Given the description of an element on the screen output the (x, y) to click on. 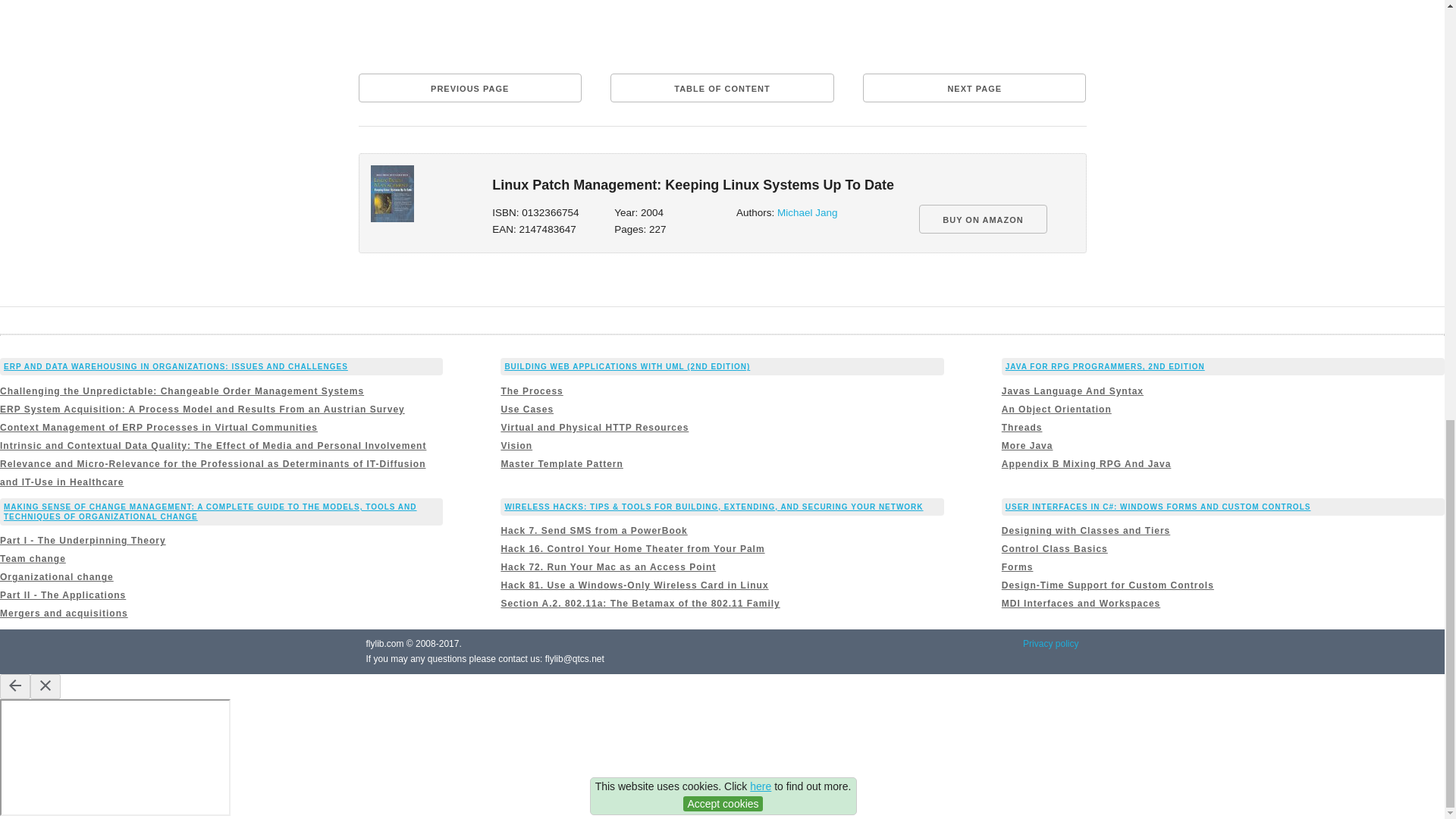
Advertisement (722, 31)
Organizational change (56, 576)
Threads (1021, 427)
Michael Jang (807, 212)
Part II - The Applications (62, 594)
Hack 7. Send SMS from a PowerBook (593, 530)
Section A.2. 802.11a: The Betamax of the 802.11 Family (639, 603)
Vision (516, 445)
Context Management of ERP Processes in Virtual Communities (158, 427)
Master Template Pattern (561, 463)
Part I - The Underpinning Theory (82, 540)
Appendix B Mixing RPG And Java (1086, 463)
An Object Orientation (1056, 409)
